Given the description of an element on the screen output the (x, y) to click on. 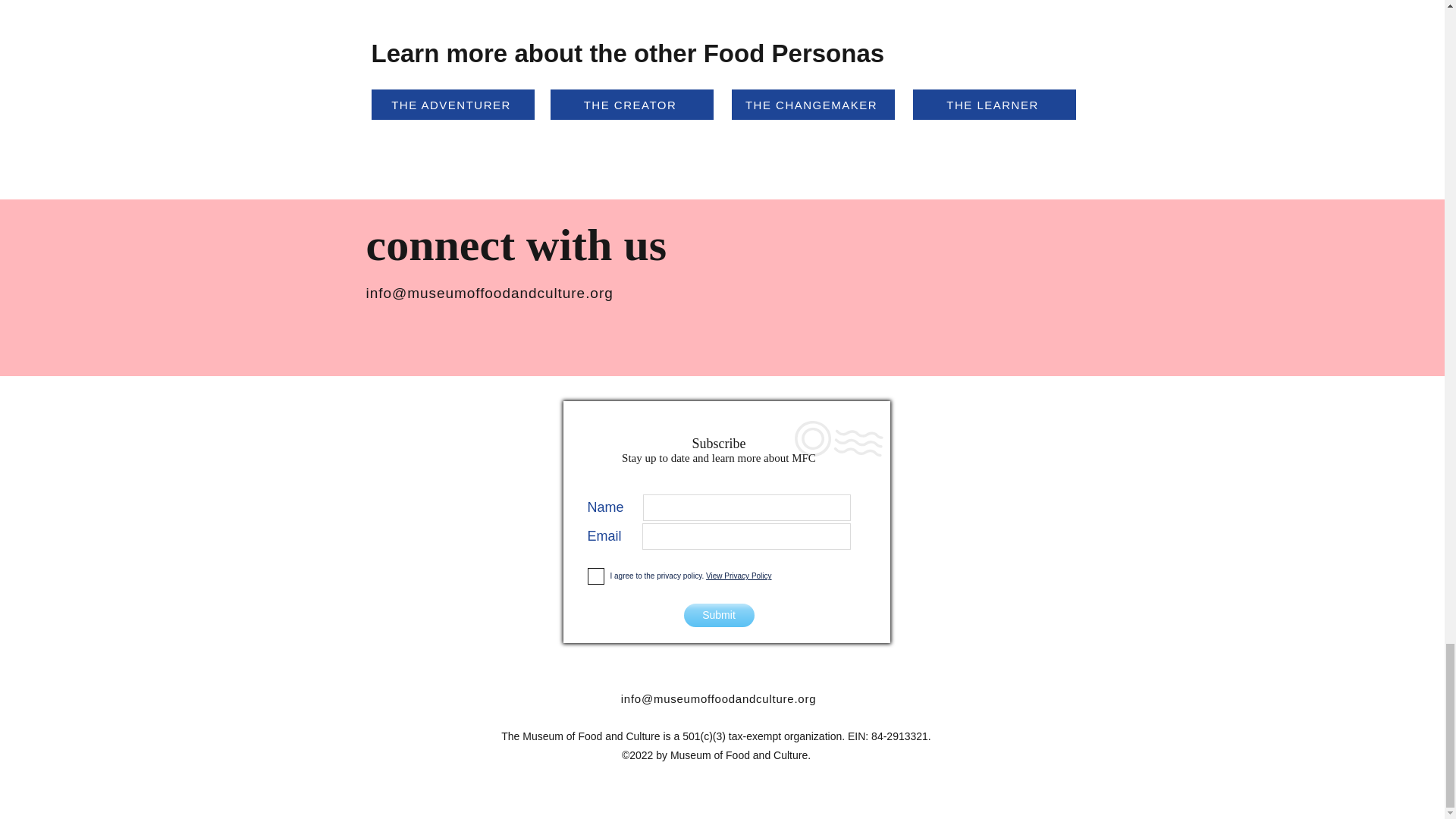
THE LEARNER (993, 104)
THE CREATOR (631, 104)
THE ADVENTURER (452, 104)
Submit (719, 615)
View Privacy Policy (738, 575)
THE CHANGEMAKER (811, 104)
